Given the description of an element on the screen output the (x, y) to click on. 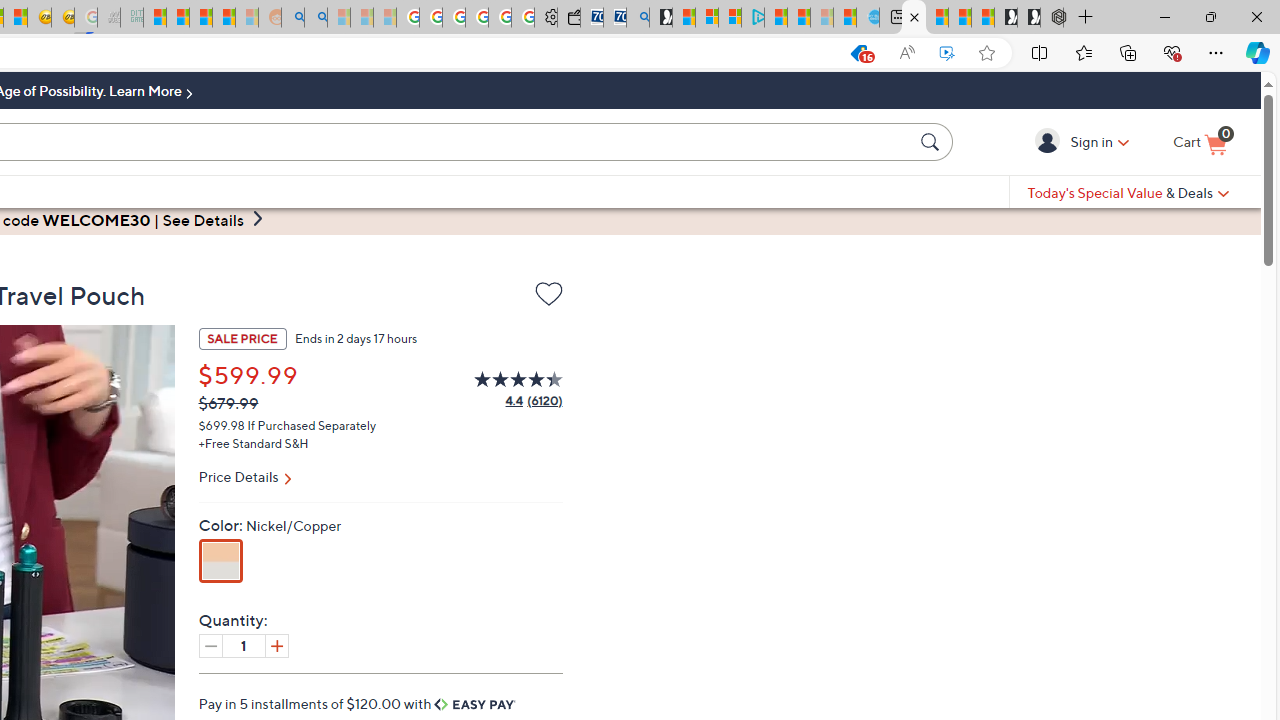
Utah sues federal government - Search (315, 17)
Increase quantity by 1 (276, 645)
Add to Wish List (548, 297)
Cart is Empty  (1199, 143)
Bing Real Estate - Home sales and rental listings (637, 17)
If Purchased Separately (312, 424)
Quantity (243, 645)
